Given the description of an element on the screen output the (x, y) to click on. 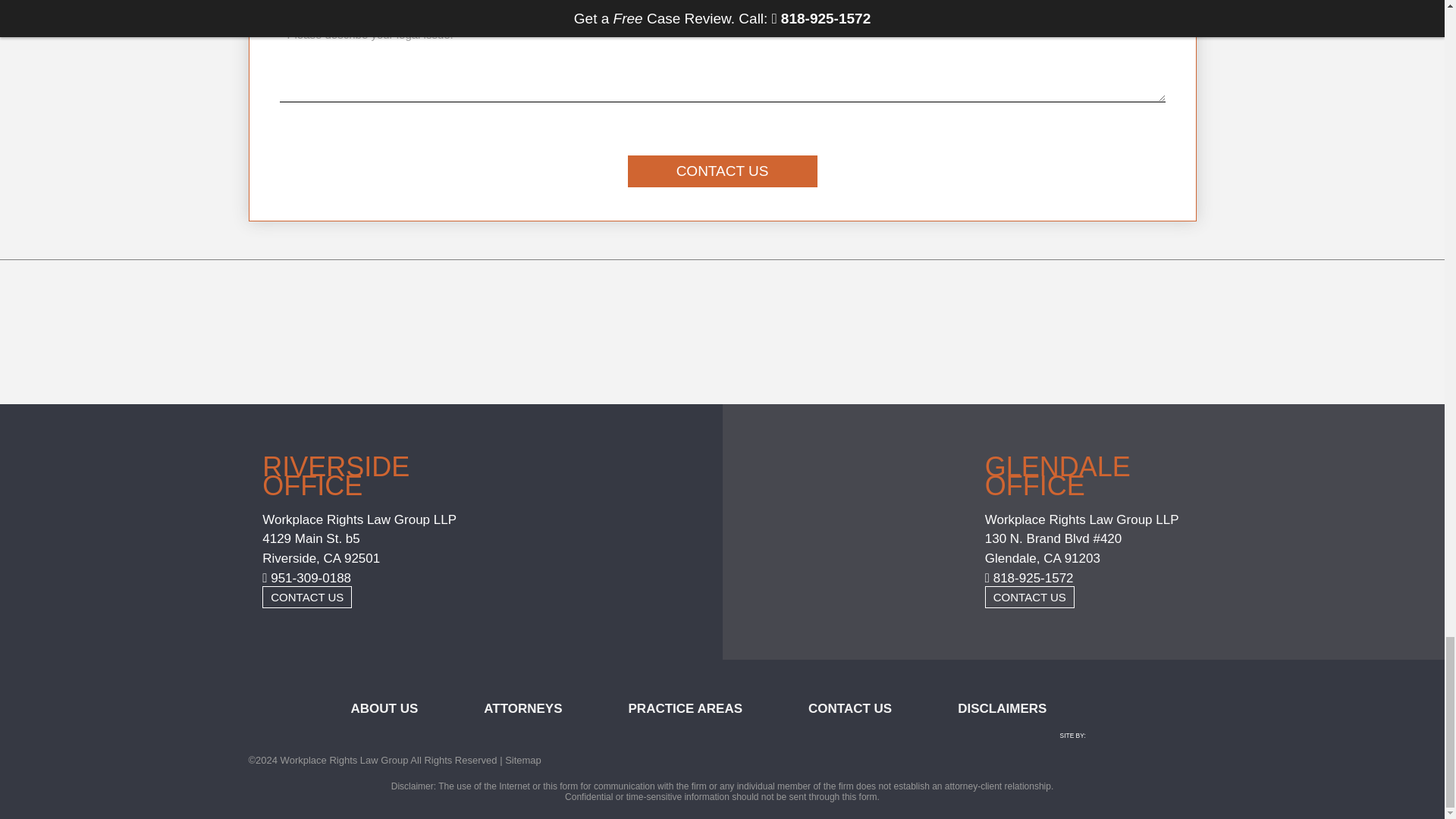
Contact Workplace Rights Law Group (307, 597)
Contact Us (721, 171)
Call our Riverside Office (306, 578)
Contact Workplace Rights Law Group (1029, 597)
Call our Glendale Office (1029, 578)
